Given the description of an element on the screen output the (x, y) to click on. 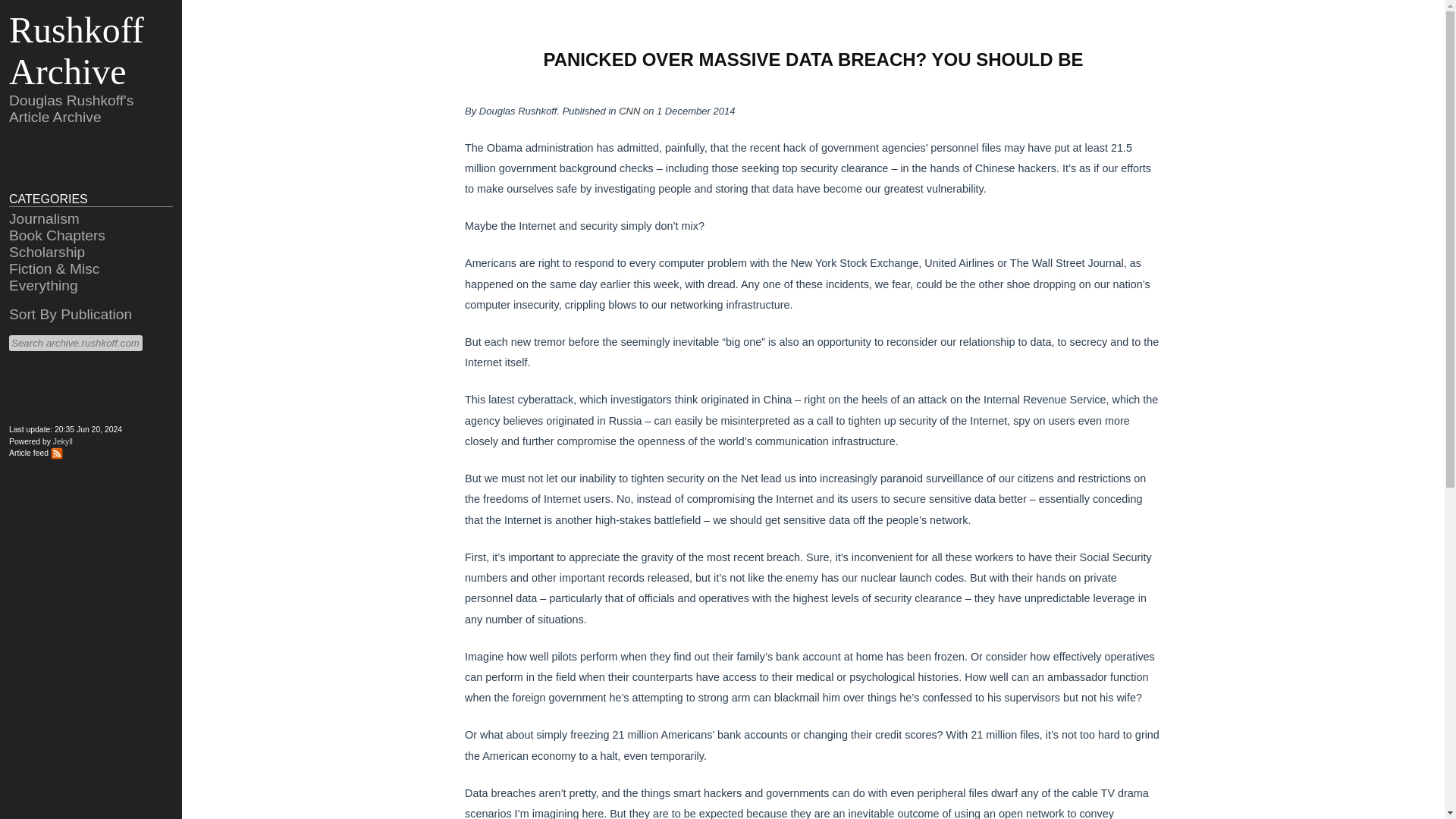
Jekyll (62, 441)
Journalism (44, 218)
Scholarship (46, 252)
Rushkoff Archive (76, 50)
Sort By Publication (70, 314)
CNN (629, 111)
Everything (43, 285)
Book Chapters (56, 235)
